Given the description of an element on the screen output the (x, y) to click on. 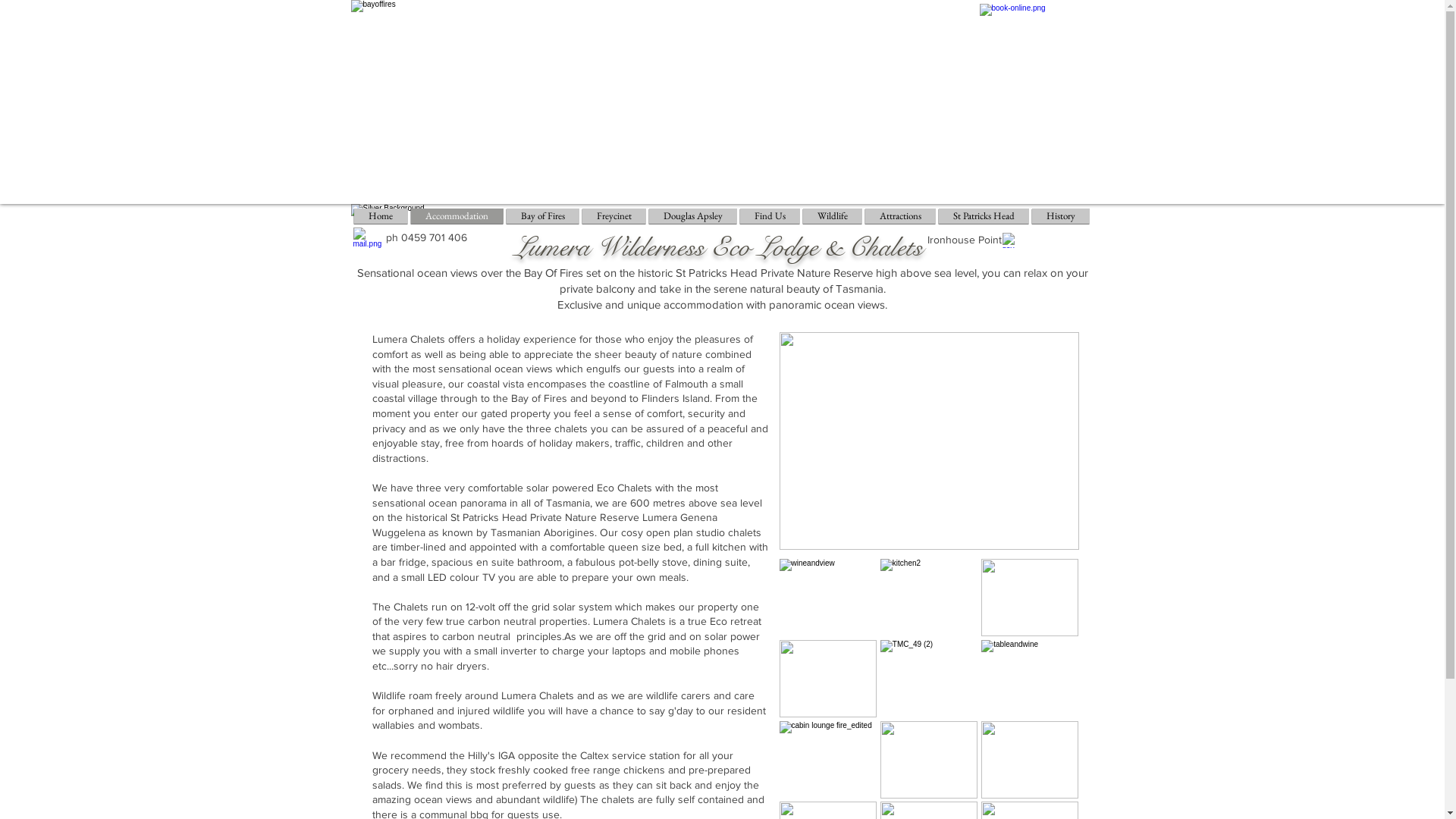
Home Element type: text (380, 215)
Find Us Element type: text (770, 215)
Attractions Element type: text (899, 215)
Douglas Apsley Element type: text (693, 215)
Bay of Fires Element type: text (542, 215)
History Element type: text (1059, 215)
Rainbow-Flag extra small.png Element type: hover (1014, 239)
St Patricks Head Element type: text (983, 215)
Accommodation Element type: text (457, 215)
Wildlife Element type: text (831, 215)
Freycinet Element type: text (614, 215)
